Given the description of an element on the screen output the (x, y) to click on. 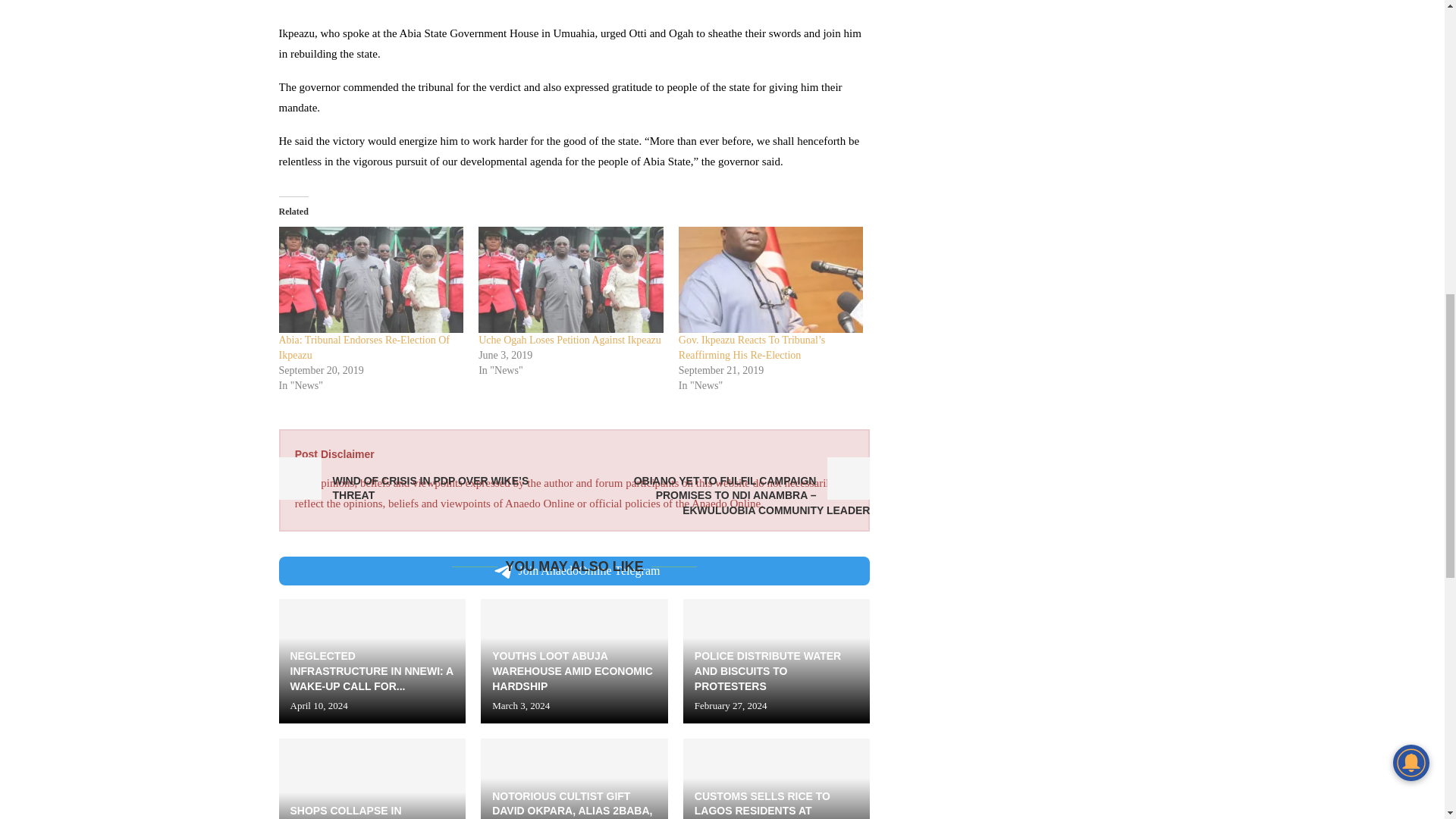
Abia: Tribunal Endorses Re-Election Of Ikpeazu (371, 279)
Advertisement (574, 8)
Youths Loot Abuja Warehouse Amid Economic Hardship (574, 660)
Uche Ogah Loses Petition Against Ikpeazu (570, 339)
Abia: Tribunal Endorses Re-Election Of Ikpeazu (364, 347)
Police Distribute Water and Biscuits to Protesters (776, 660)
Uche Ogah Loses Petition Against Ikpeazu (571, 279)
Notorious Cultist Gift David Okpara, Alias 2baba, Dead (574, 778)
Shops Collapse in Ochanja Market, Onitsha (372, 778)
